Given the description of an element on the screen output the (x, y) to click on. 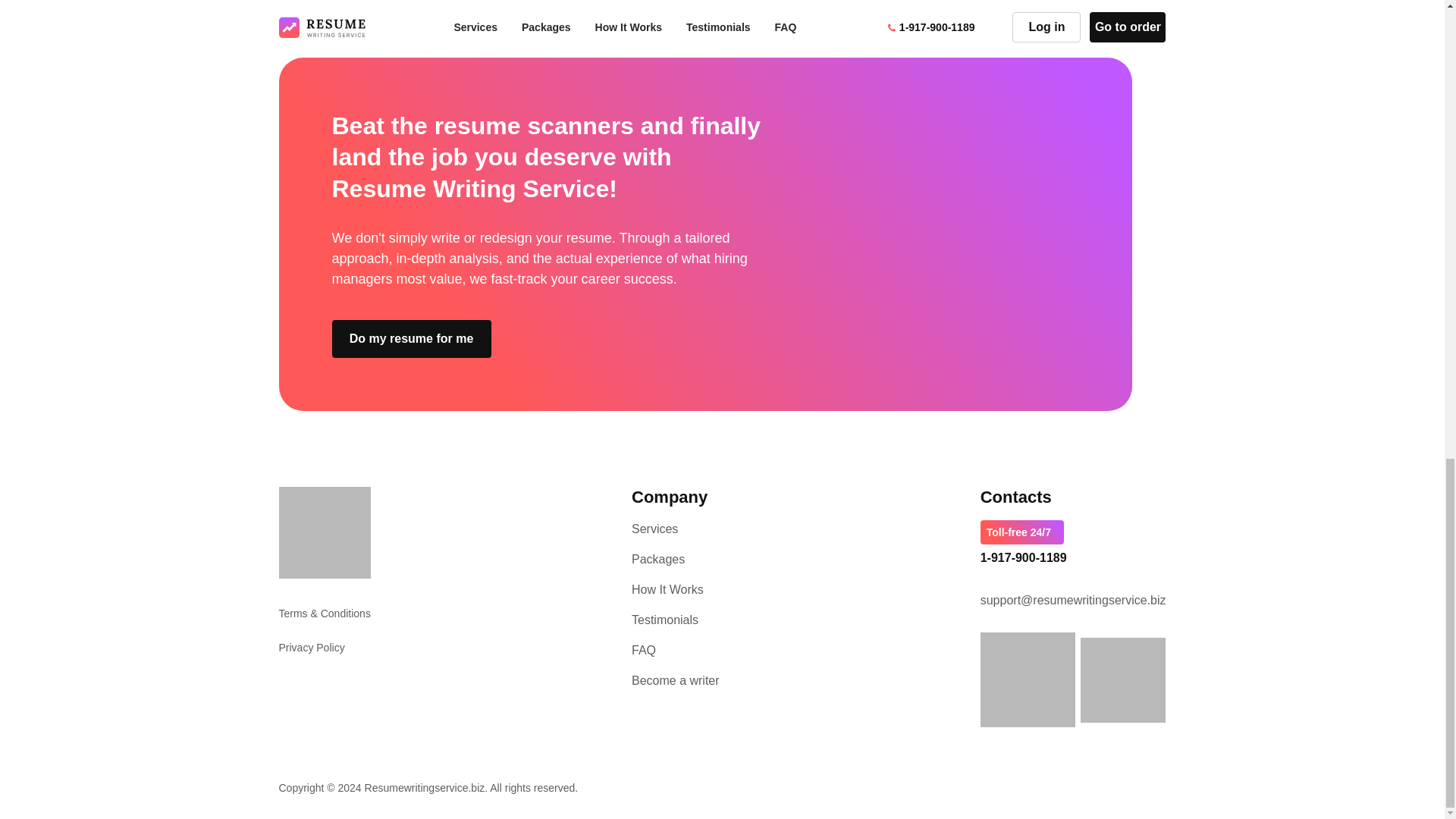
Packages (657, 558)
How It Works (667, 589)
Services (654, 528)
Privacy Policy (312, 647)
Do my resume for me (411, 338)
FAQ (643, 649)
Testimonials (664, 619)
Become a writer (675, 680)
